Given the description of an element on the screen output the (x, y) to click on. 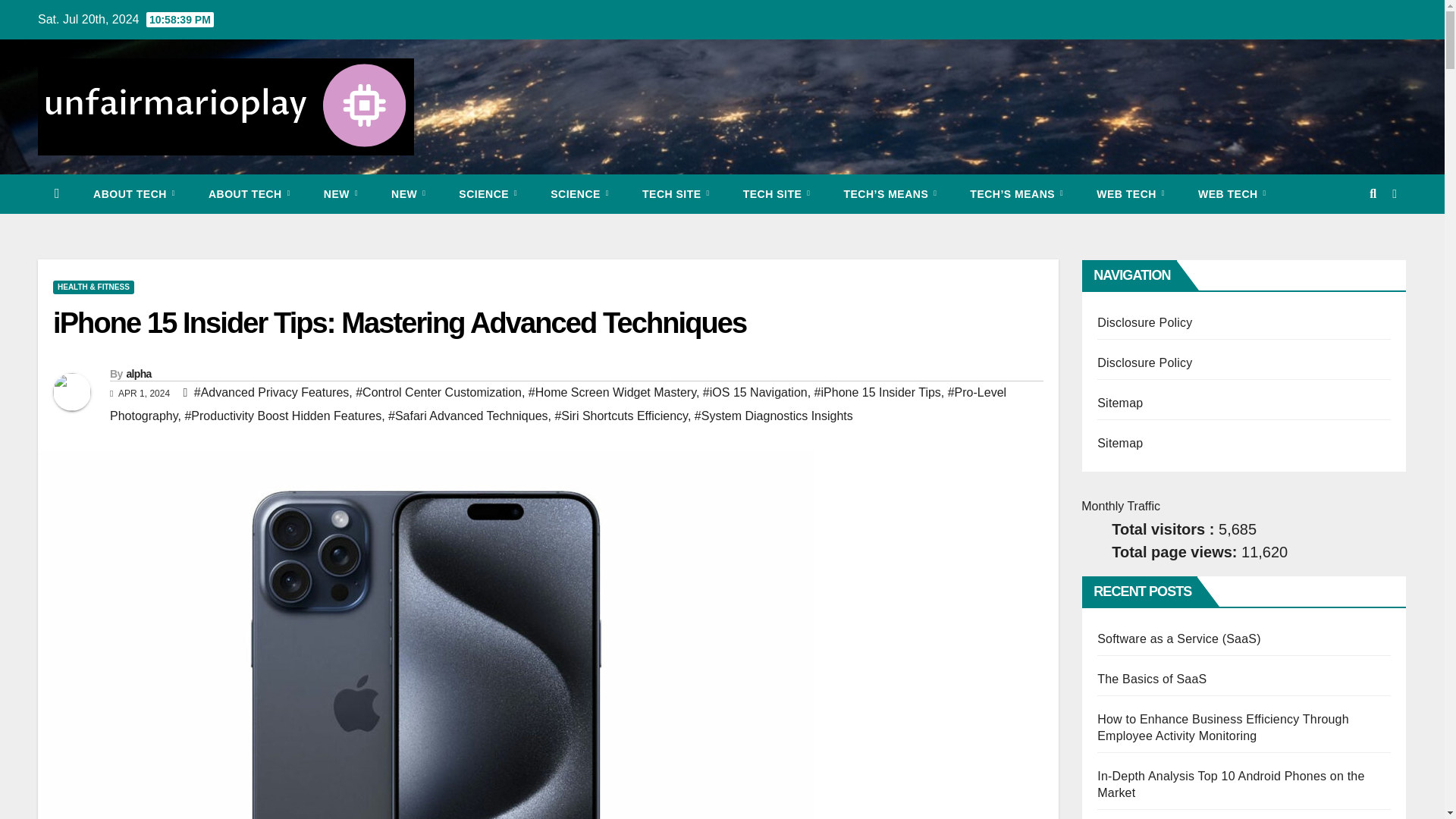
SCIENCE (488, 193)
About Tech (134, 193)
ABOUT TECH (249, 193)
ABOUT TECH (134, 193)
NEW (340, 193)
About Tech (249, 193)
NEW (408, 193)
New (340, 193)
